Given the description of an element on the screen output the (x, y) to click on. 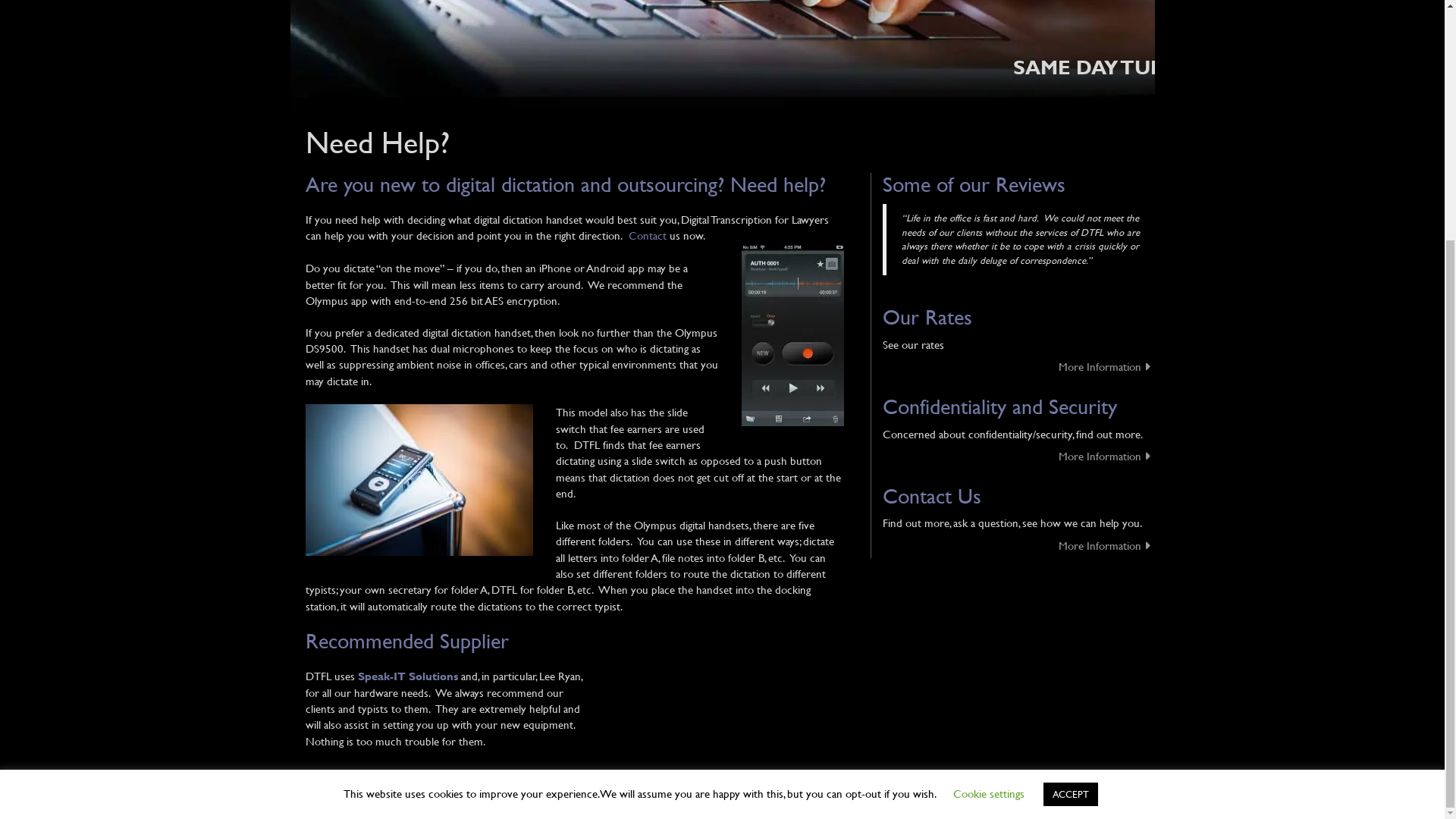
Sitemap (392, 799)
Cookie settings (987, 461)
Site Credits (1119, 797)
Speak-IT Solutions (408, 675)
More Information (1018, 366)
Contact (646, 235)
More Information (1018, 545)
Privacy Policy (333, 799)
SAME DAY TURNAROUND AS STANDARD (721, 75)
ACCEPT (1070, 463)
More Information (1018, 456)
